Given the description of an element on the screen output the (x, y) to click on. 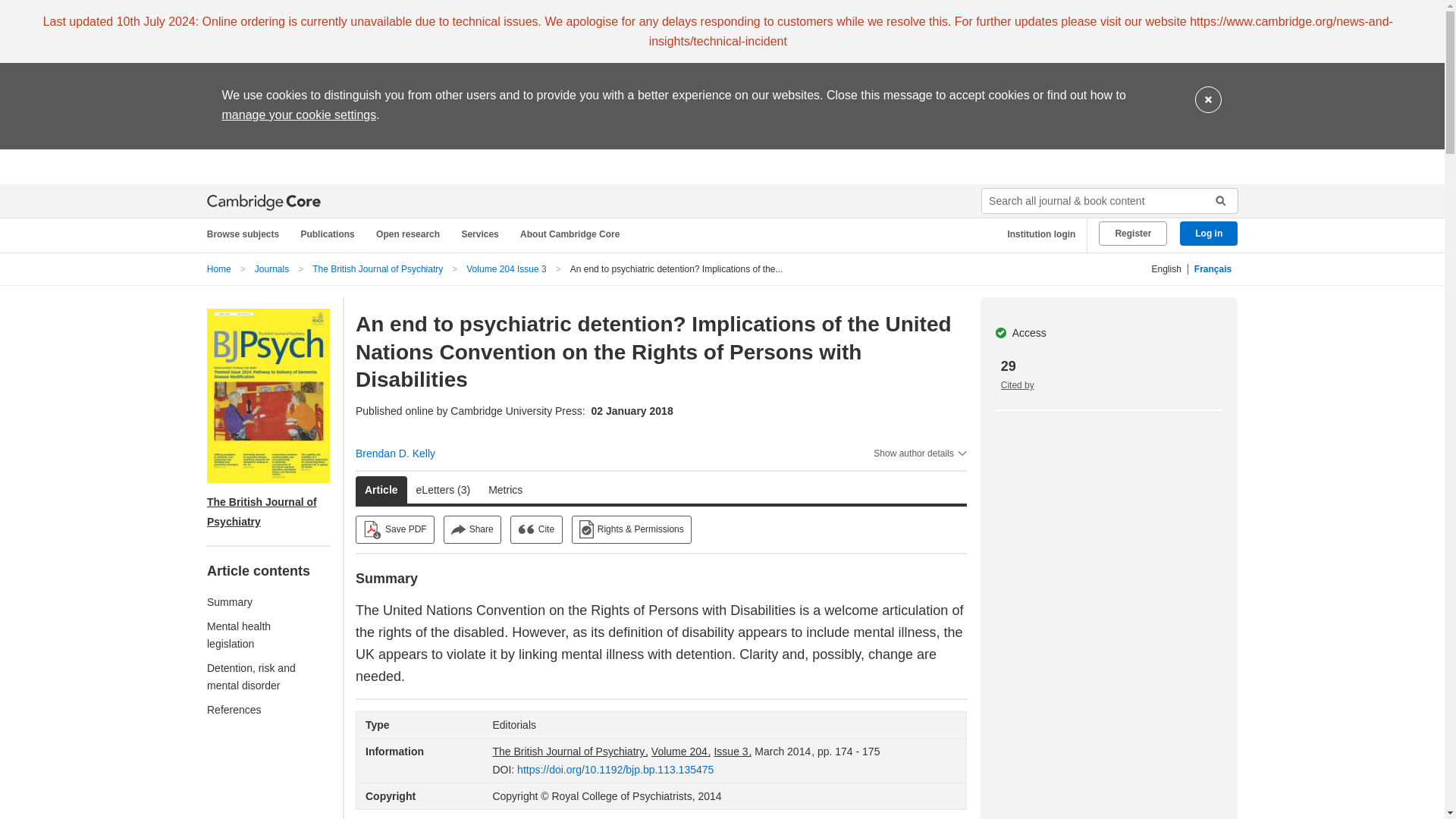
Open research (410, 234)
Browse subjects (250, 234)
manage your cookie settings (298, 114)
About Cambridge Core (572, 234)
Close cookie message (1208, 99)
Home (218, 268)
Institution login (1035, 234)
Register (1133, 233)
Journals (271, 268)
Submit search (1214, 200)
Log in (1208, 233)
Volume 204 Issue 3 (505, 268)
Submit search (1214, 200)
Services (482, 234)
The British Journal of Psychiatry (377, 268)
